Given the description of an element on the screen output the (x, y) to click on. 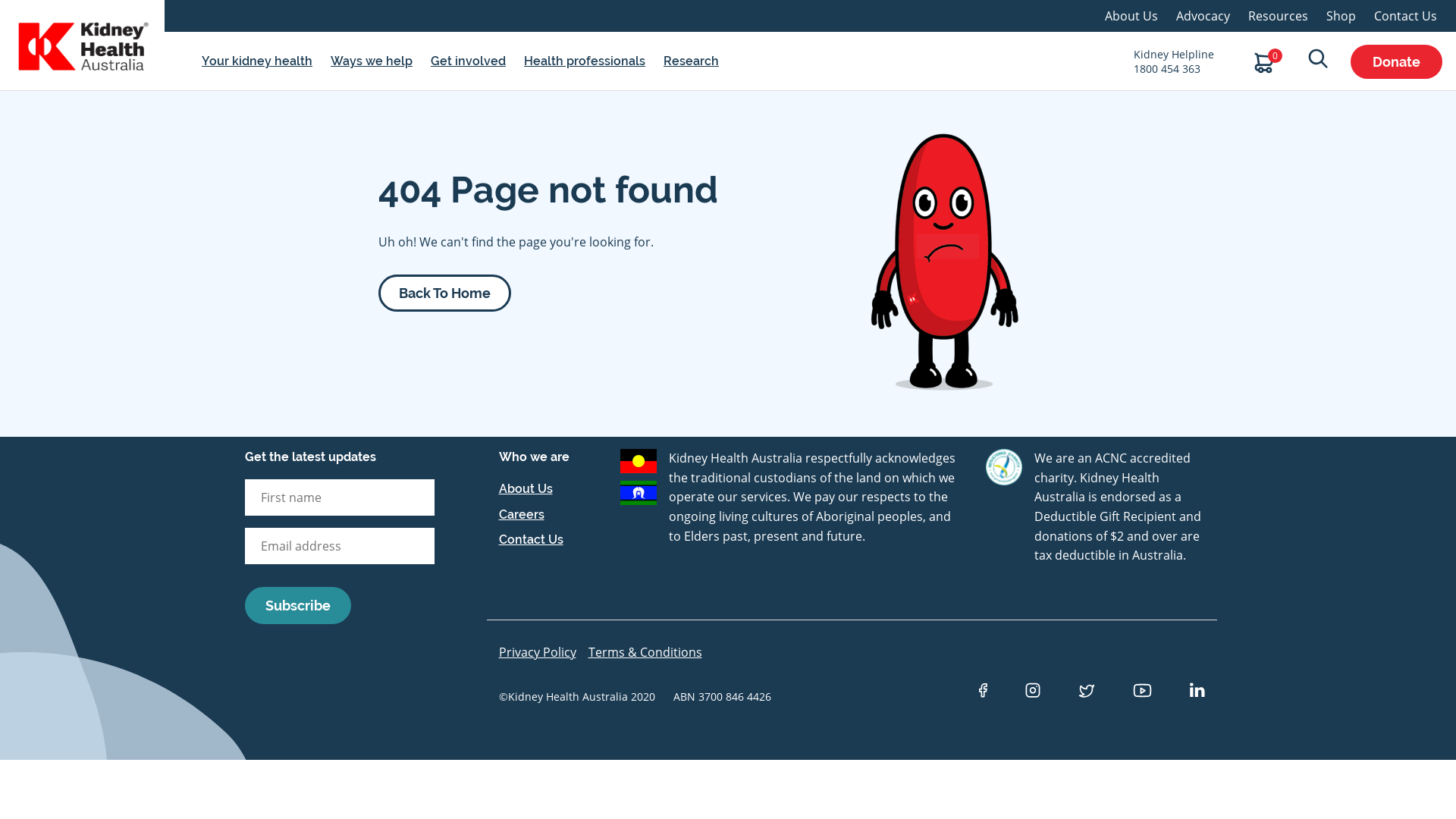
Advocacy Element type: text (1203, 15)
Donate Element type: text (1390, 60)
Careers Element type: text (521, 514)
Health professionals Element type: text (584, 61)
Terms & Conditions Element type: text (645, 651)
Back To Home Element type: text (443, 292)
Contact Us Element type: text (1405, 15)
Get involved Element type: text (467, 61)
Your kidney health Element type: text (256, 61)
Start my download Element type: text (735, 494)
Research Element type: text (690, 61)
Kidney Helpline 1800 454 363 Element type: text (1174, 61)
Contact Us Element type: text (530, 539)
Donate Element type: text (1396, 60)
About Us Element type: text (1130, 15)
Shop Element type: text (1340, 15)
Resources Element type: text (1278, 15)
Privacy Policy Element type: text (537, 651)
About Us Element type: text (525, 488)
0 Element type: text (1267, 61)
Subscribe Element type: text (297, 605)
Ways we help Element type: text (371, 61)
